Given the description of an element on the screen output the (x, y) to click on. 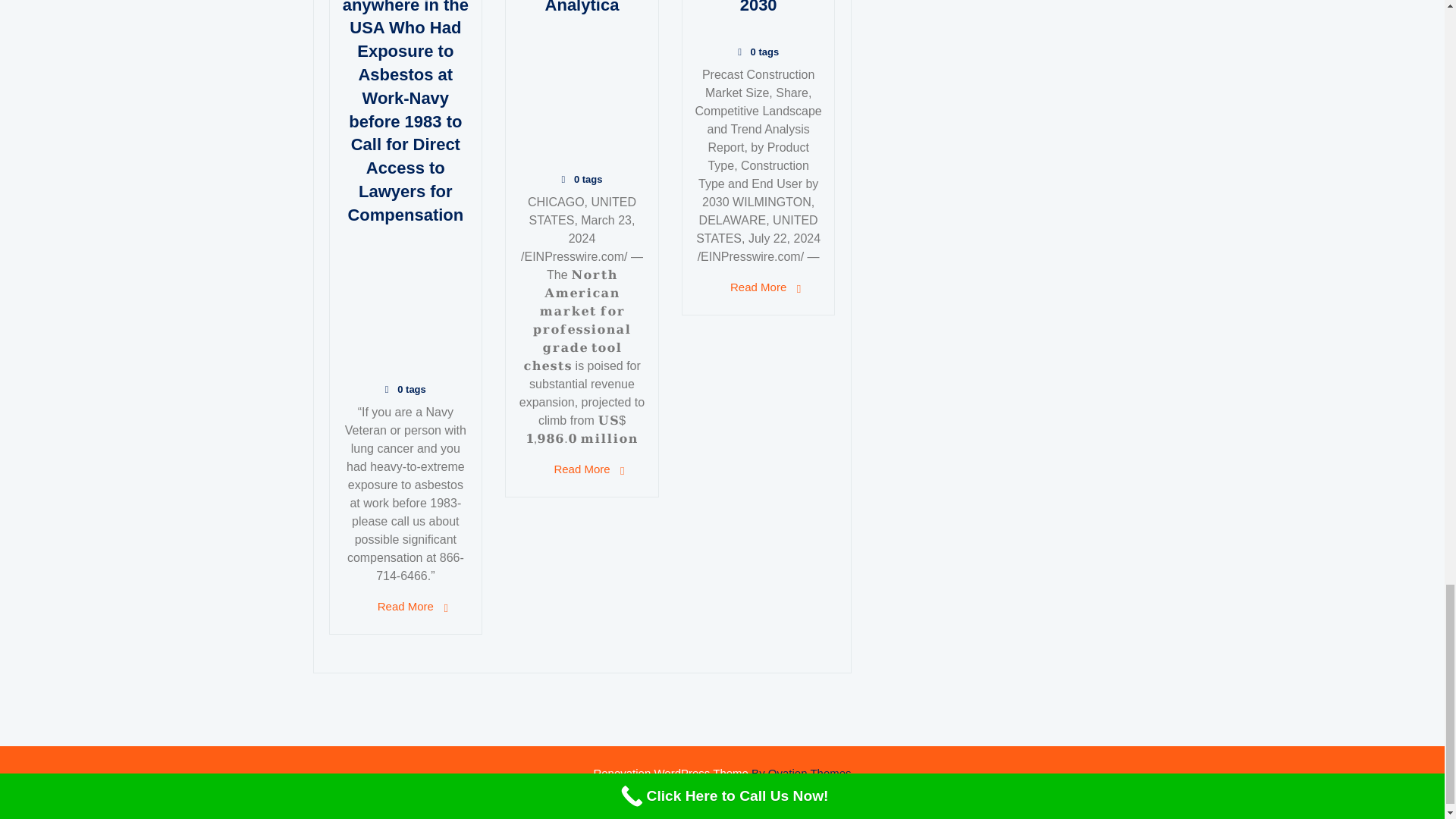
Read More (581, 469)
Read More (758, 287)
Read More (405, 606)
Privacy Policy (777, 809)
Renovation WordPress Theme By Ovation Themes (721, 772)
Terms and Conditions (684, 809)
